Given the description of an element on the screen output the (x, y) to click on. 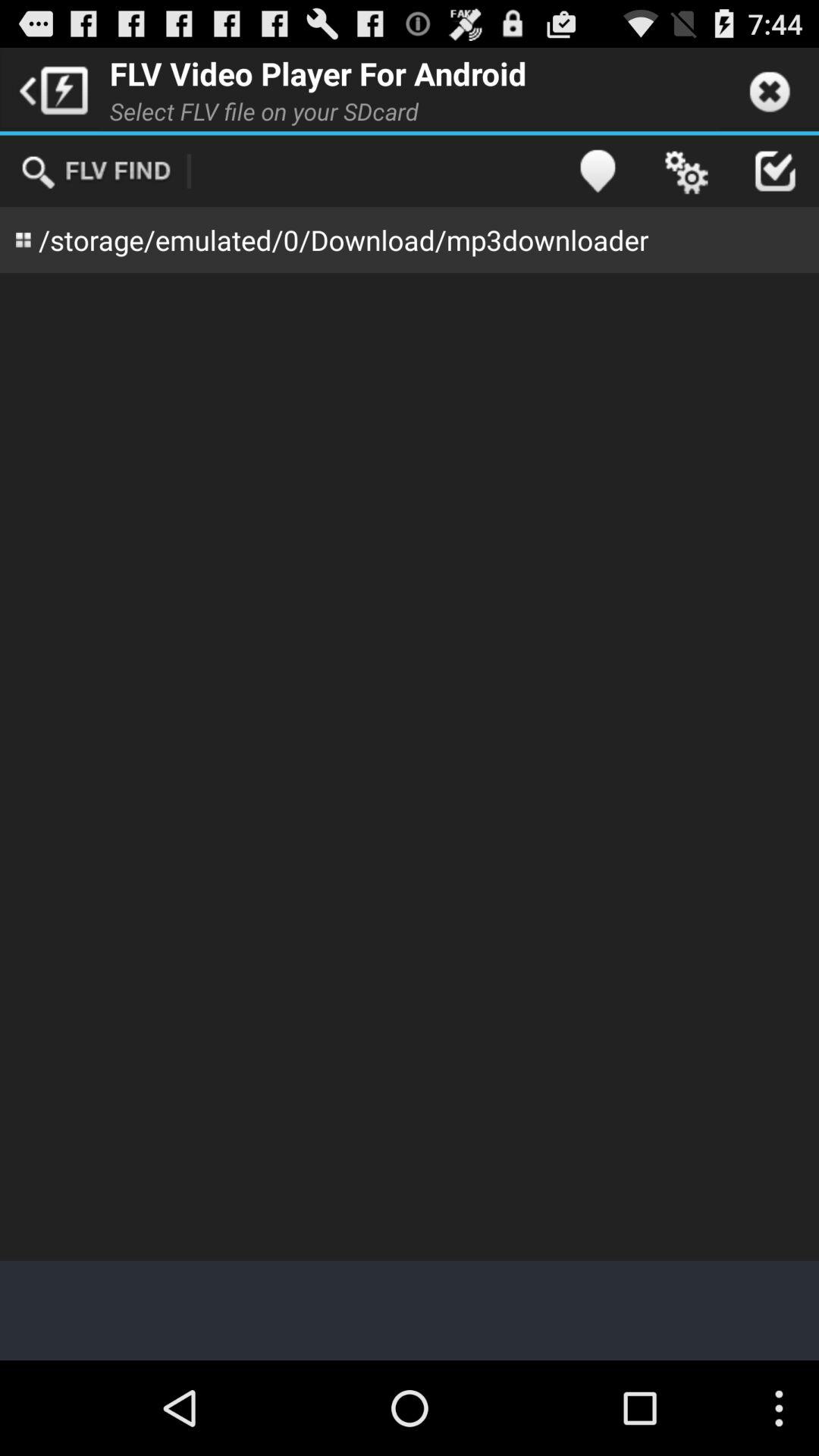
choose the app to the right of select flv file app (596, 171)
